Given the description of an element on the screen output the (x, y) to click on. 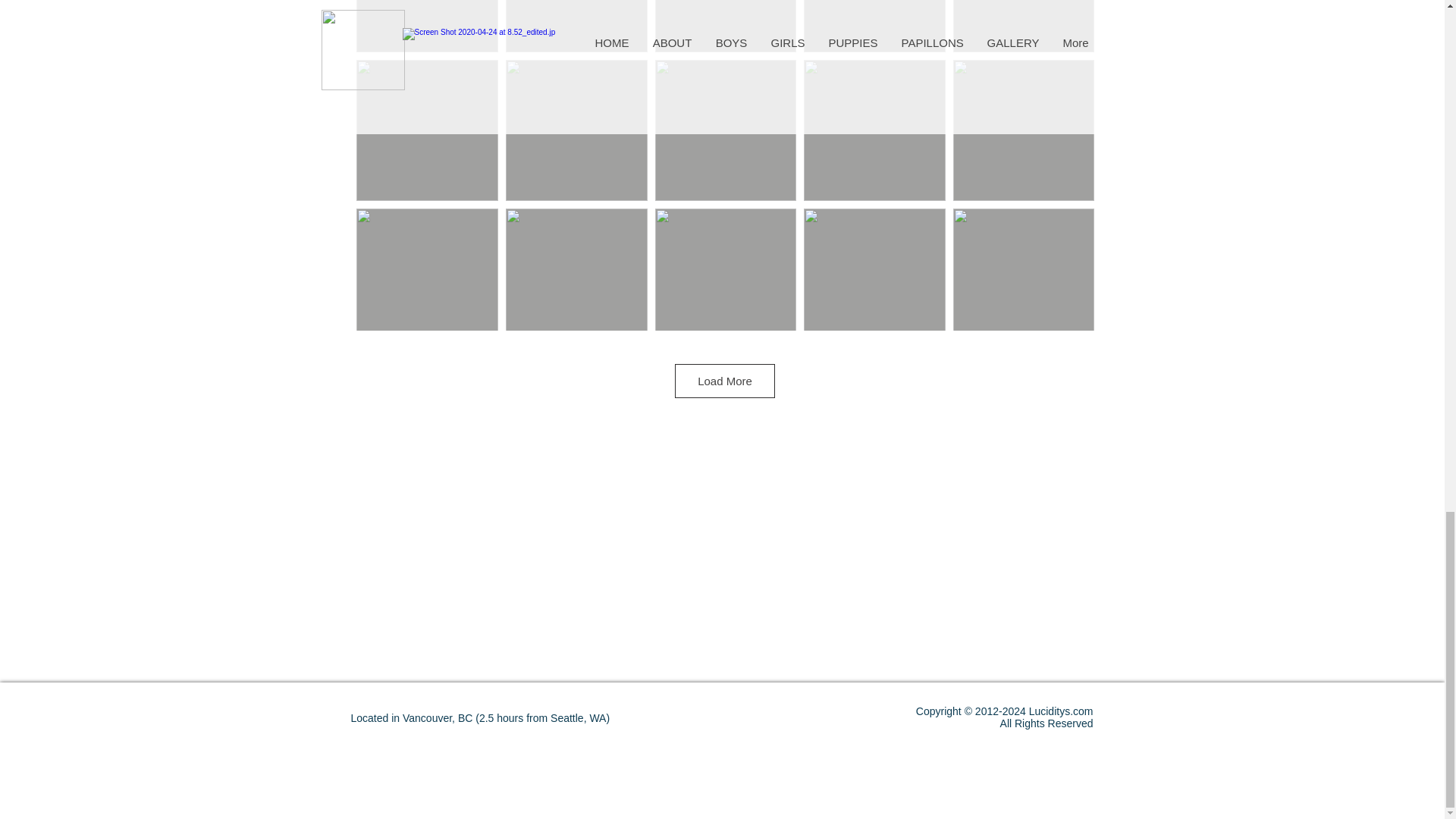
Load More (724, 380)
